Given the description of an element on the screen output the (x, y) to click on. 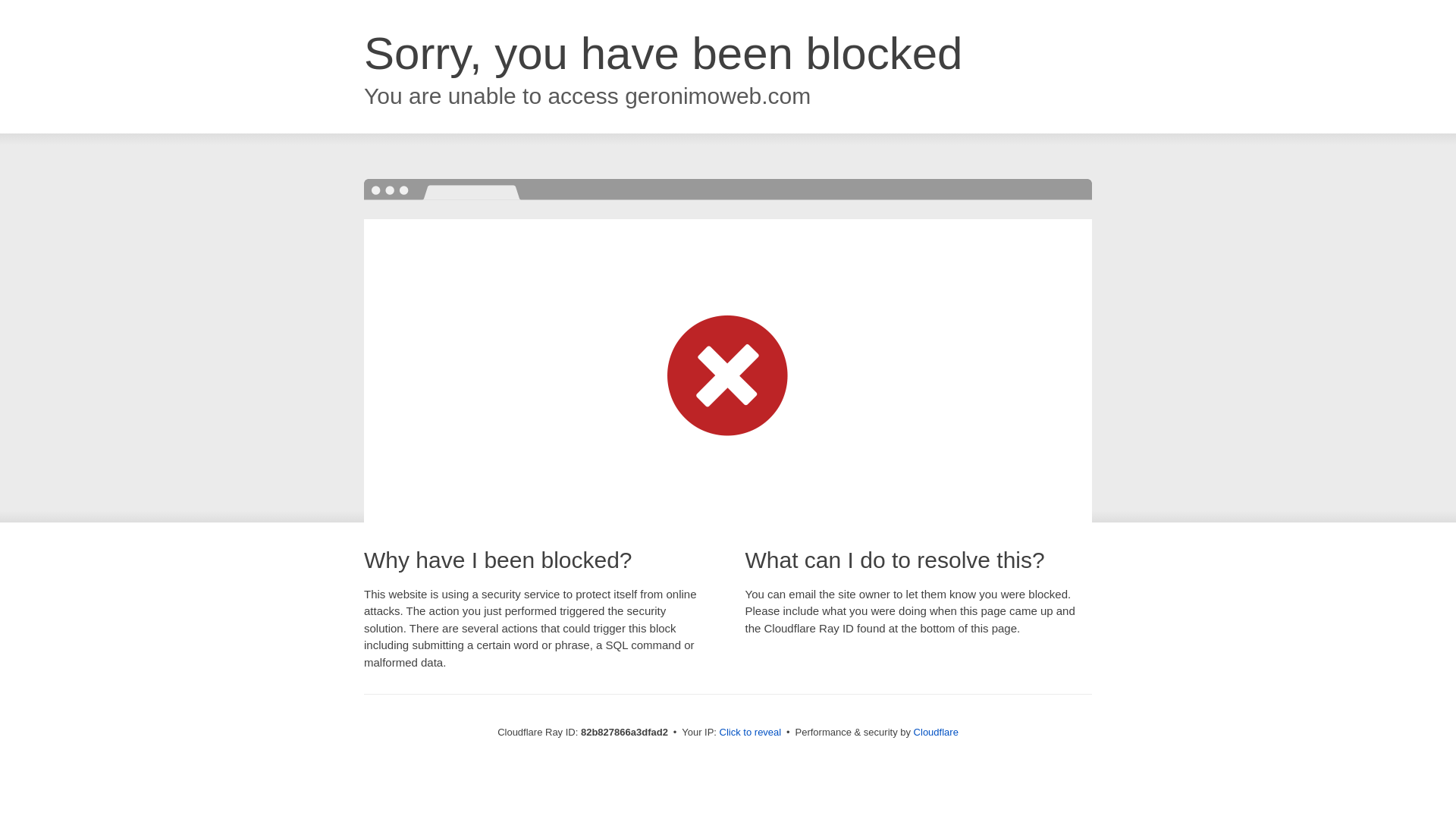
Cloudflare Element type: text (935, 731)
Click to reveal Element type: text (750, 732)
